Given the description of an element on the screen output the (x, y) to click on. 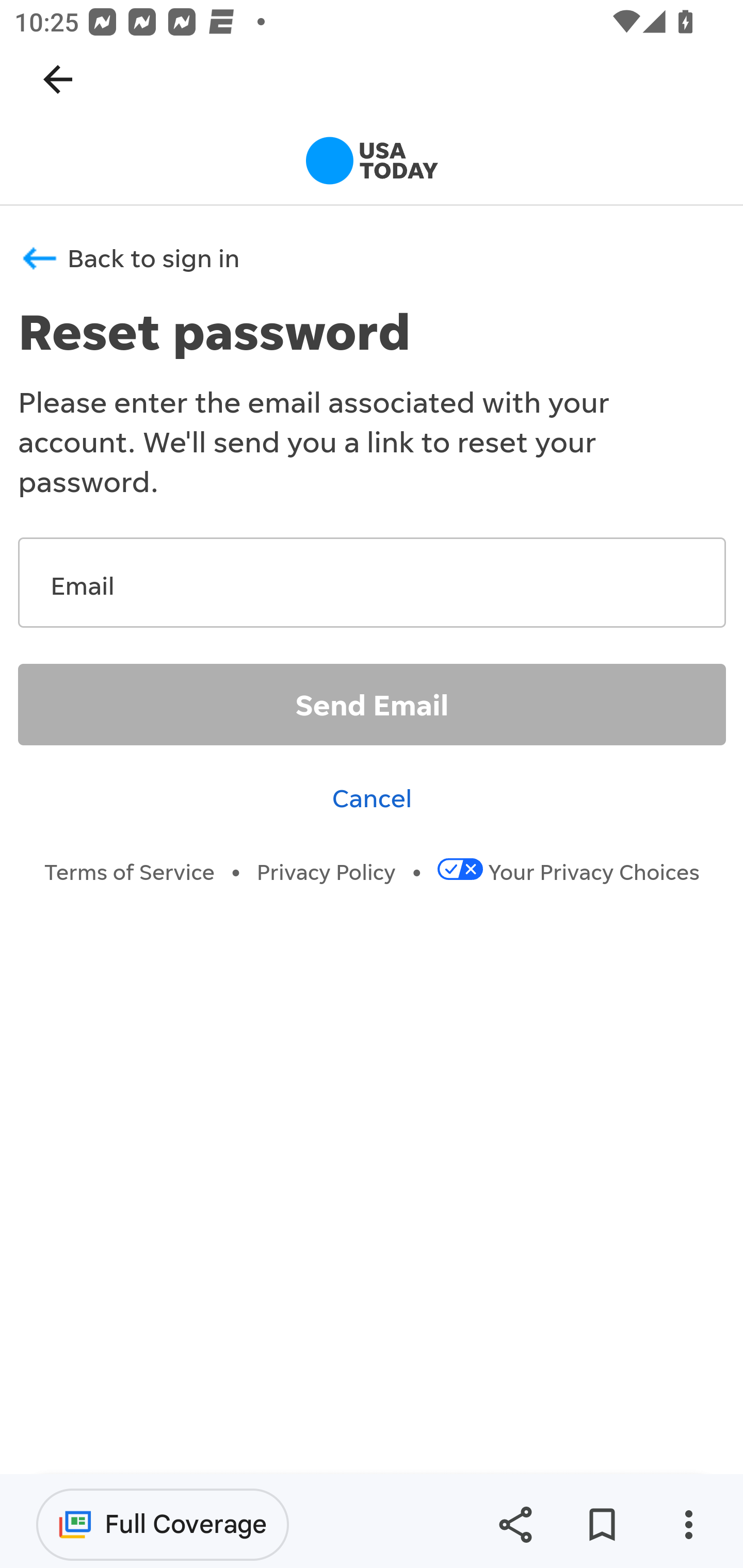
Navigate up (57, 79)
USA TODAY (371, 163)
Back to sign in (372, 250)
Send Email (372, 702)
Cancel (372, 796)
Terms of Service (129, 871)
Privacy Policy (326, 871)
Share (514, 1524)
Save for later (601, 1524)
More options (688, 1524)
Full Coverage (162, 1524)
